Given the description of an element on the screen output the (x, y) to click on. 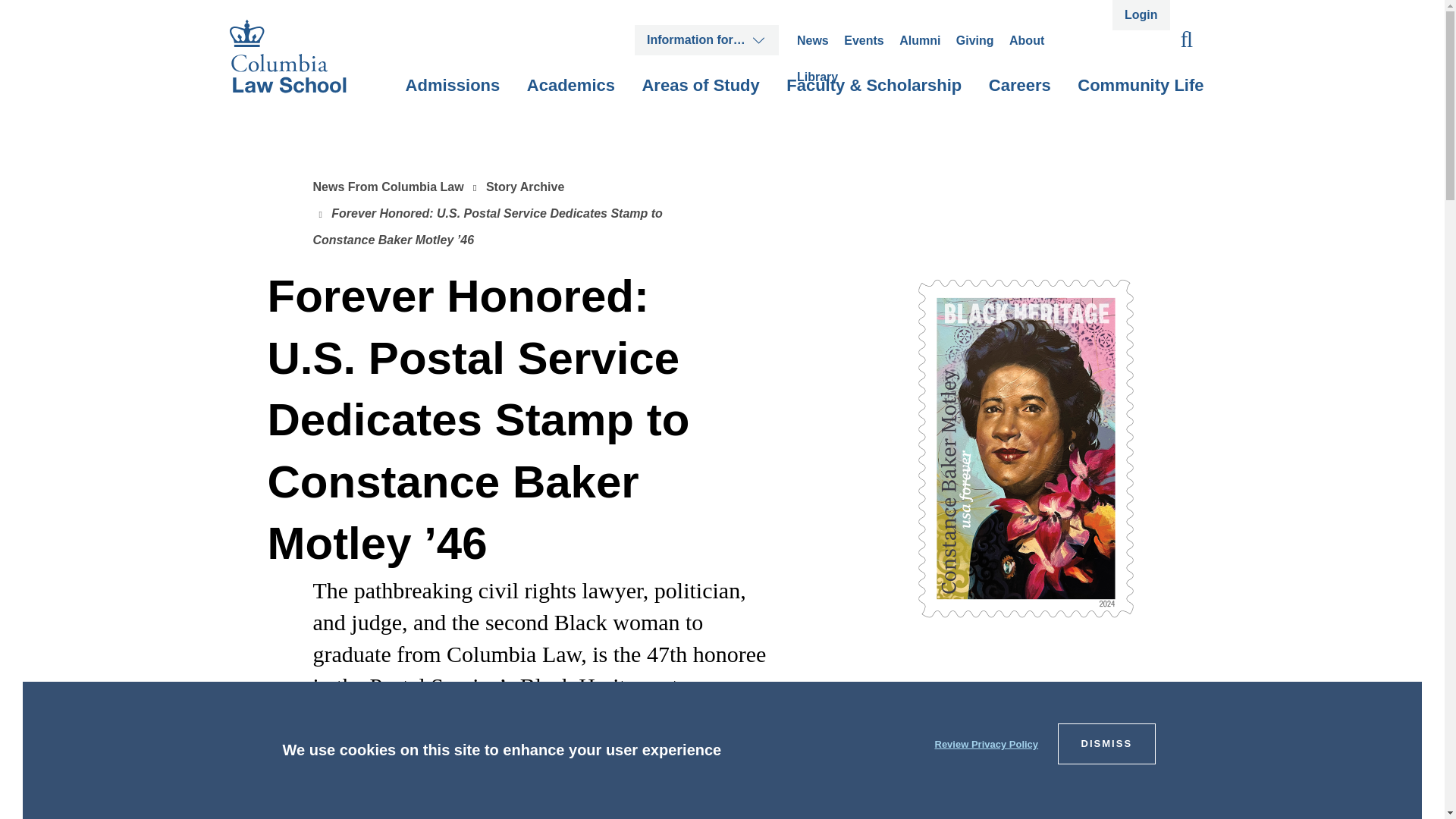
Login (1141, 15)
Events (863, 40)
Library (817, 76)
Giving (975, 40)
Alumni (919, 40)
News (812, 40)
Admissions (453, 96)
Academics (570, 96)
About (1026, 40)
